Given the description of an element on the screen output the (x, y) to click on. 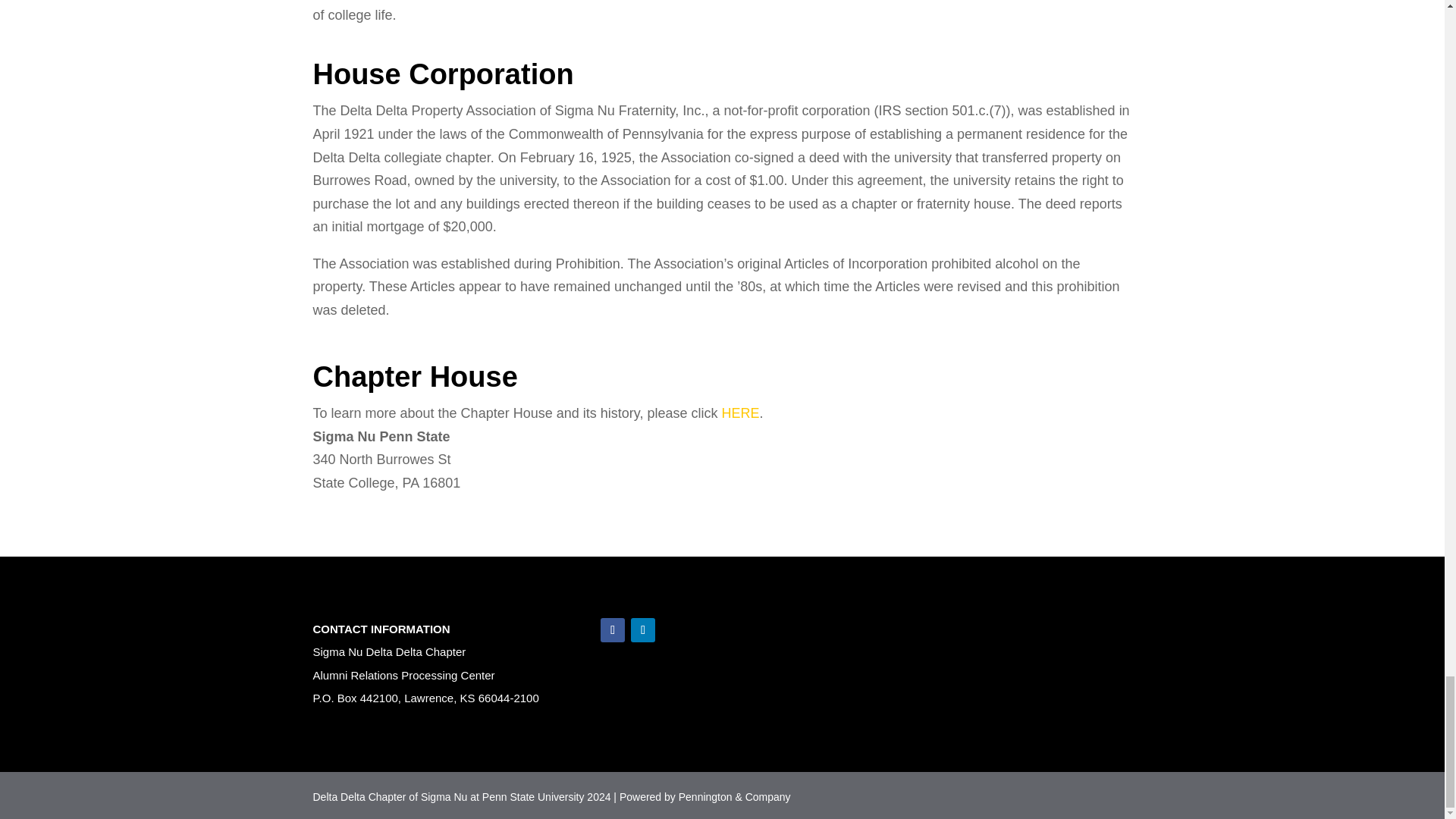
Page 8 (722, 175)
Follow on LinkedIn (642, 630)
Follow on Facebook (611, 630)
Page 9 (722, 287)
